Given the description of an element on the screen output the (x, y) to click on. 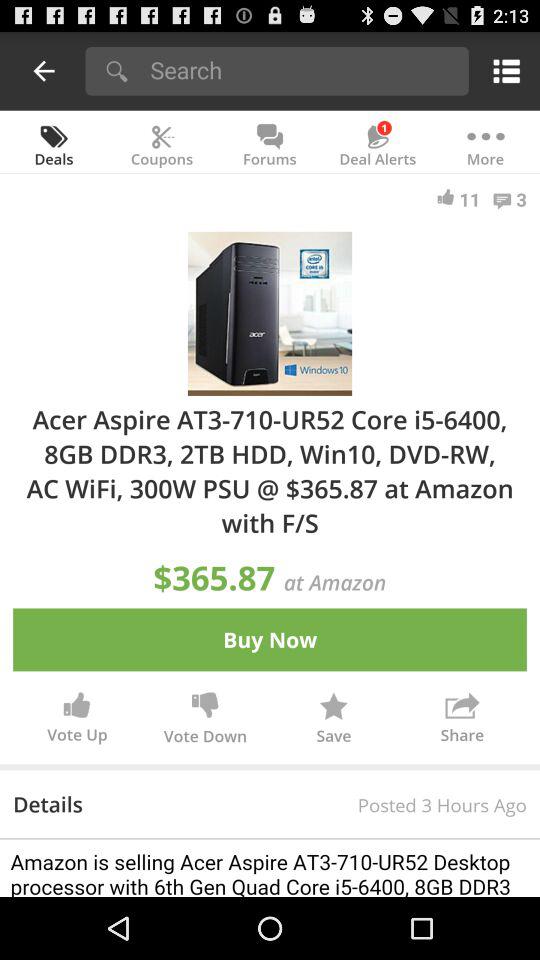
tap the app above the coupons app (302, 69)
